Given the description of an element on the screen output the (x, y) to click on. 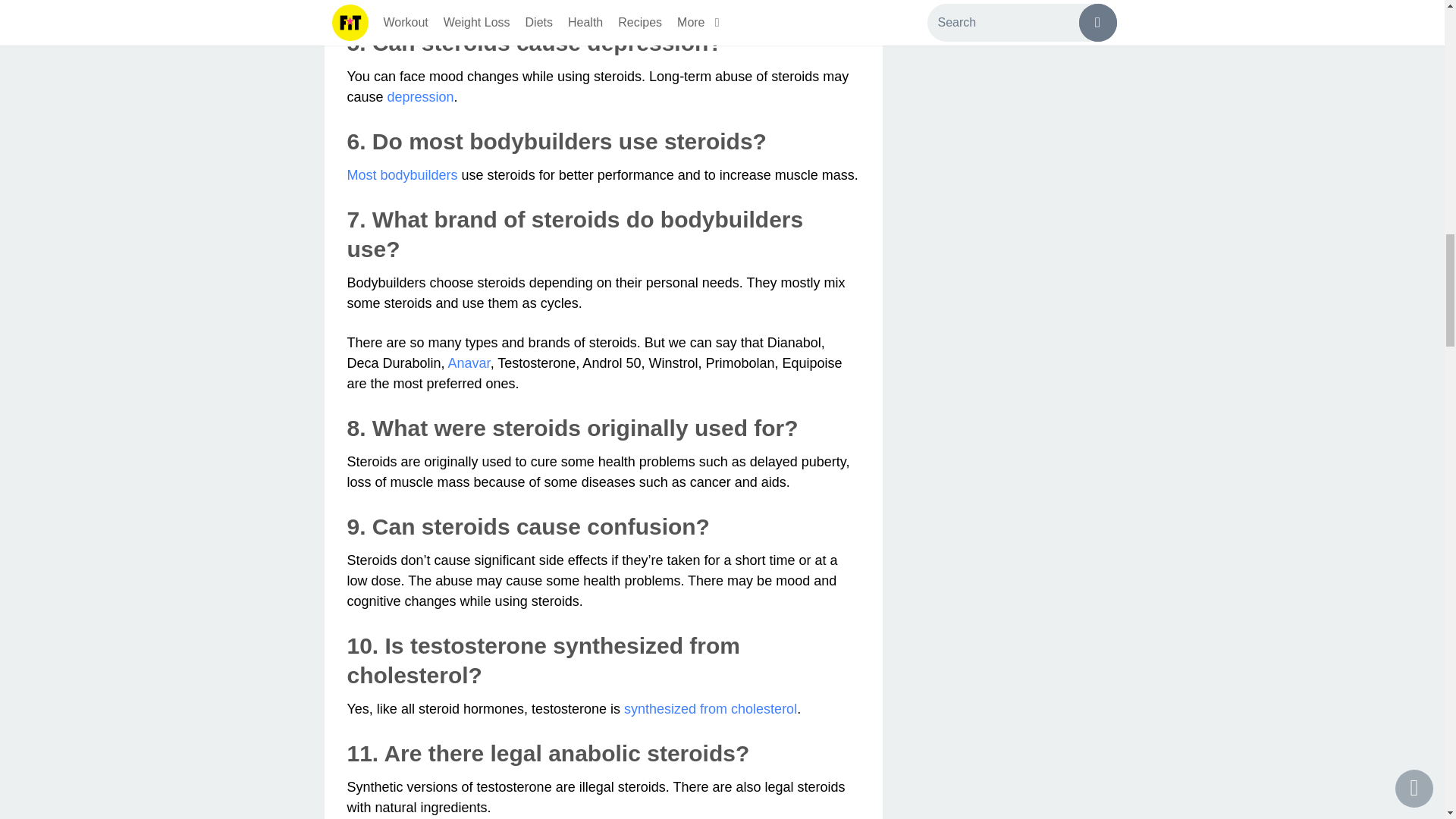
synthesized from cholesterol (710, 708)
depression (420, 96)
Anavar (469, 363)
Most bodybuilders (402, 174)
